Given the description of an element on the screen output the (x, y) to click on. 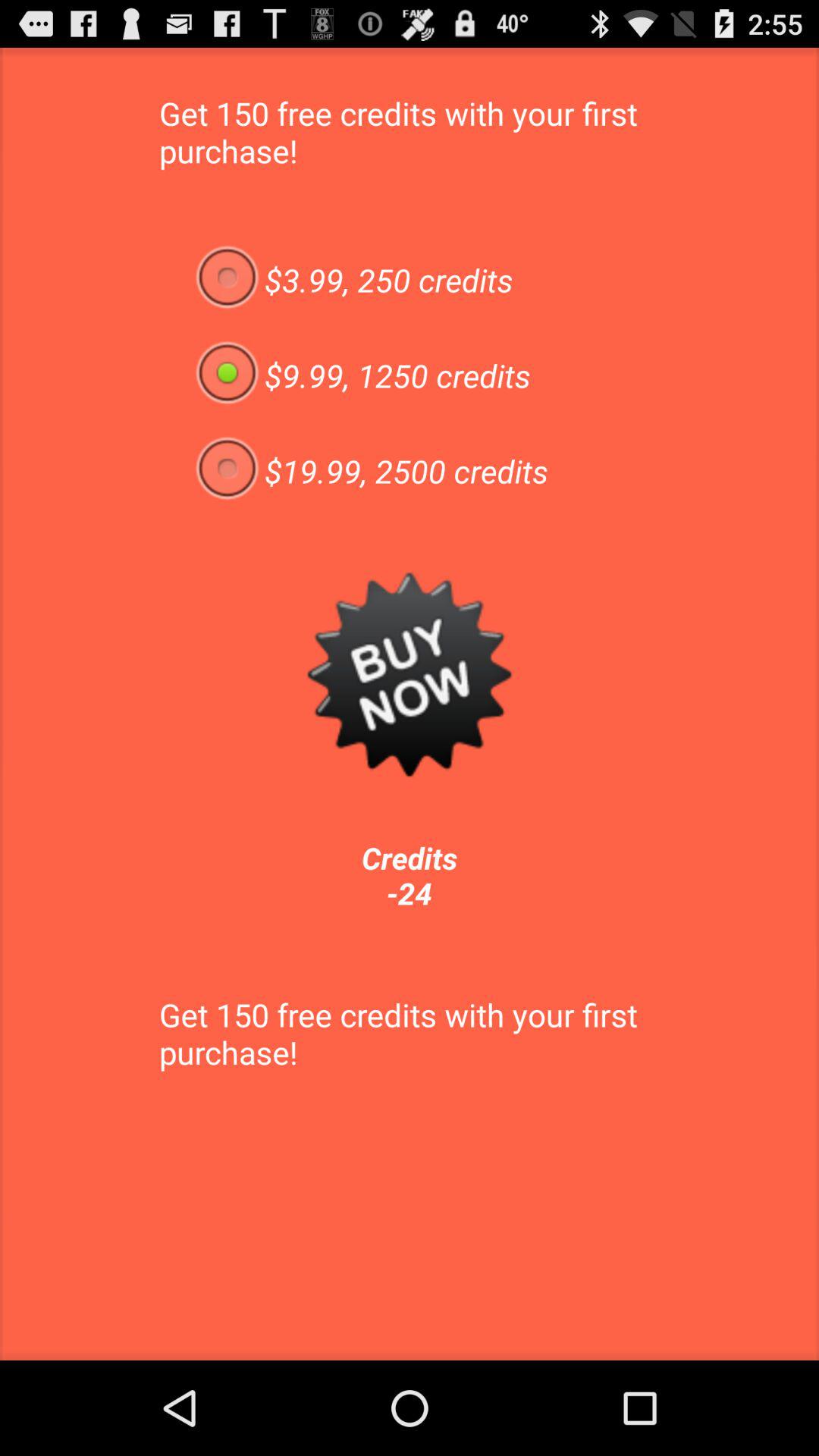
tap the radio button below the 19 99 2500 item (409, 674)
